Given the description of an element on the screen output the (x, y) to click on. 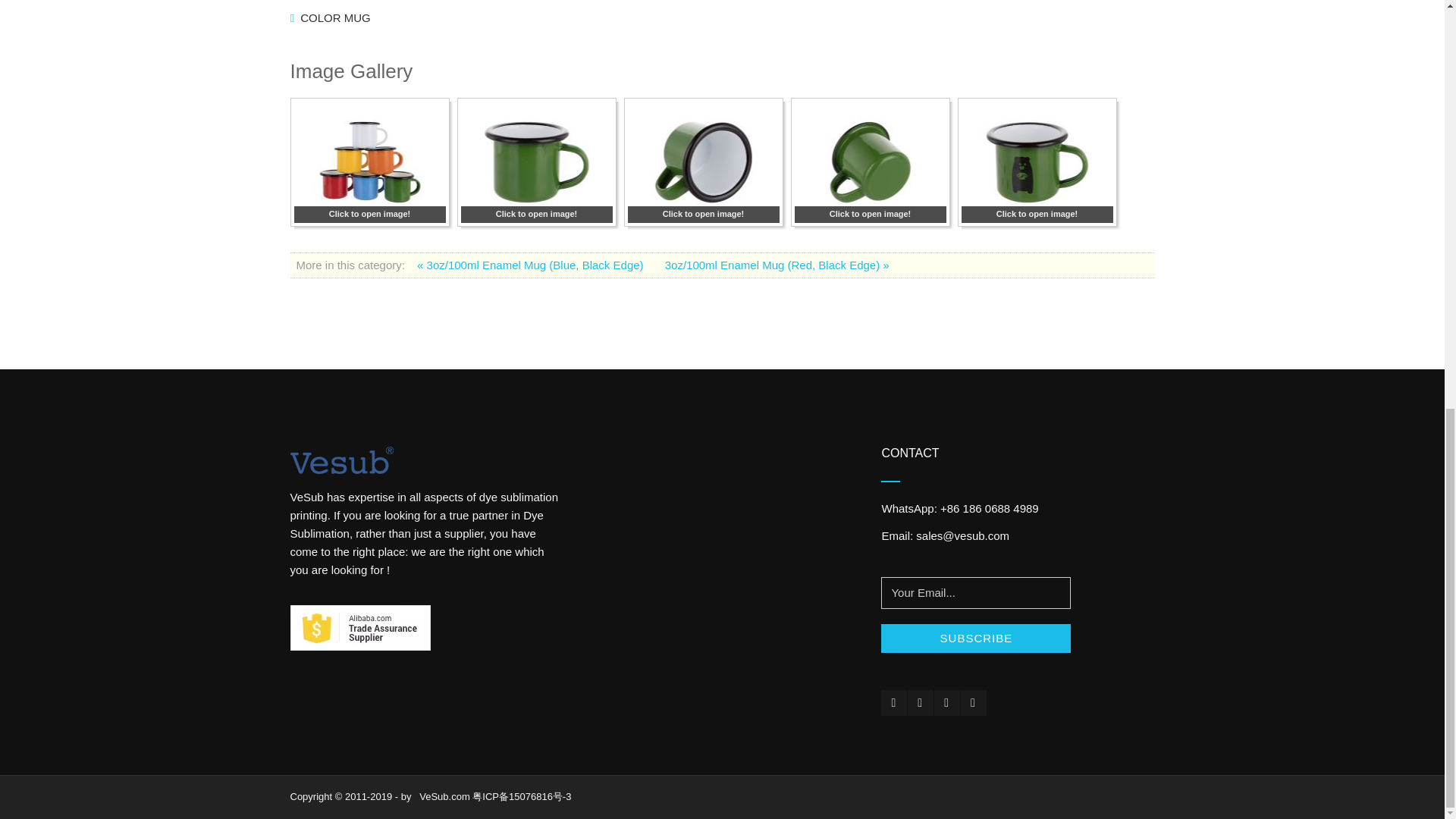
Click to open image! (1036, 214)
Click to open image! (702, 214)
Your Email... (975, 593)
Click to open image! (536, 214)
Subscribe (975, 638)
Click to open image! (369, 214)
Click to open image! (870, 214)
